Given the description of an element on the screen output the (x, y) to click on. 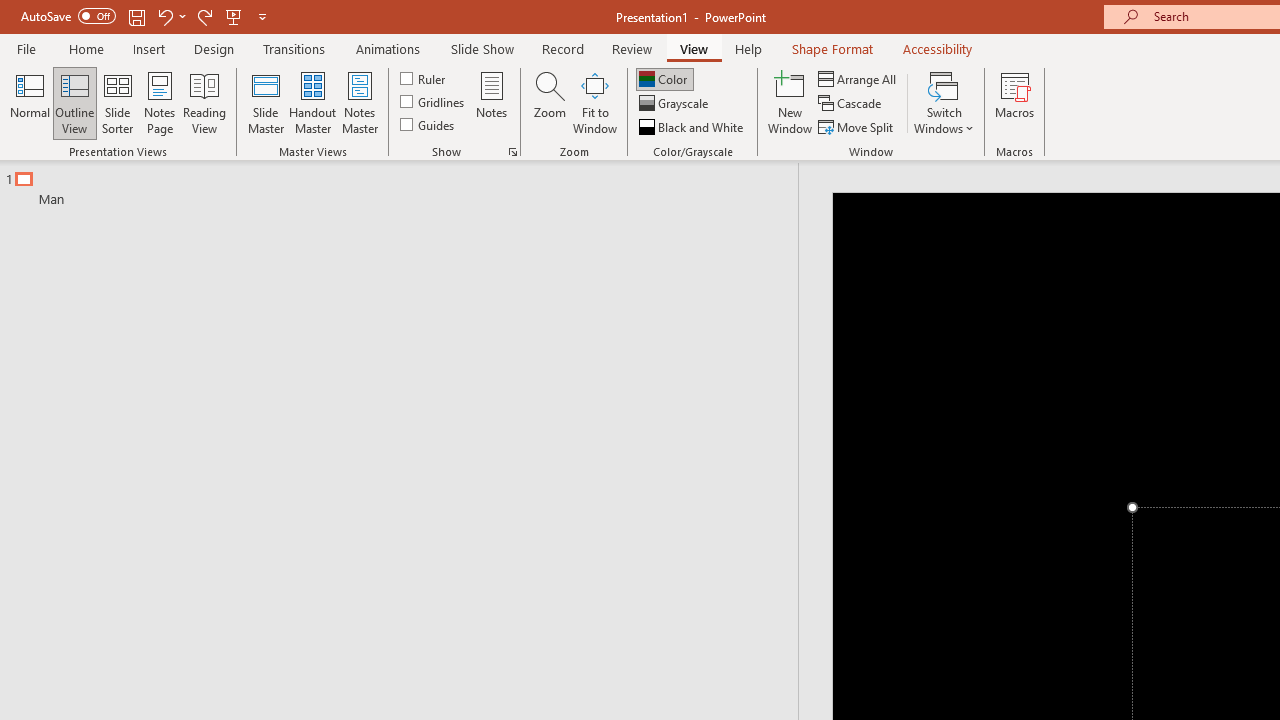
Move Split (857, 126)
New Window (790, 102)
